Given the description of an element on the screen output the (x, y) to click on. 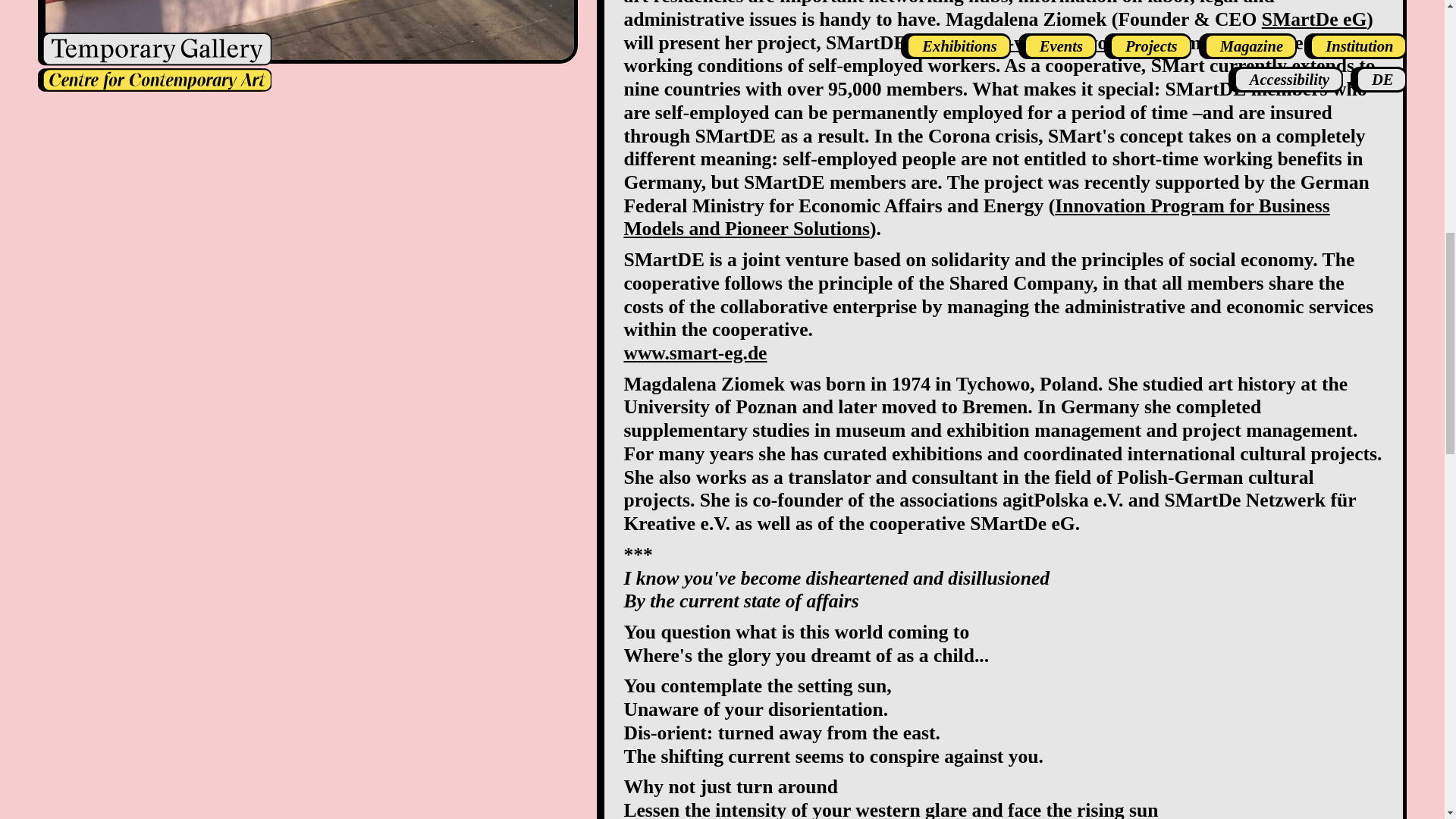
www.smart-eg.de (695, 352)
Innovation Program for Business Models and Pioneer Solutions (976, 217)
SMartDe eG (1314, 19)
Europe-wide network (1036, 42)
